Given the description of an element on the screen output the (x, y) to click on. 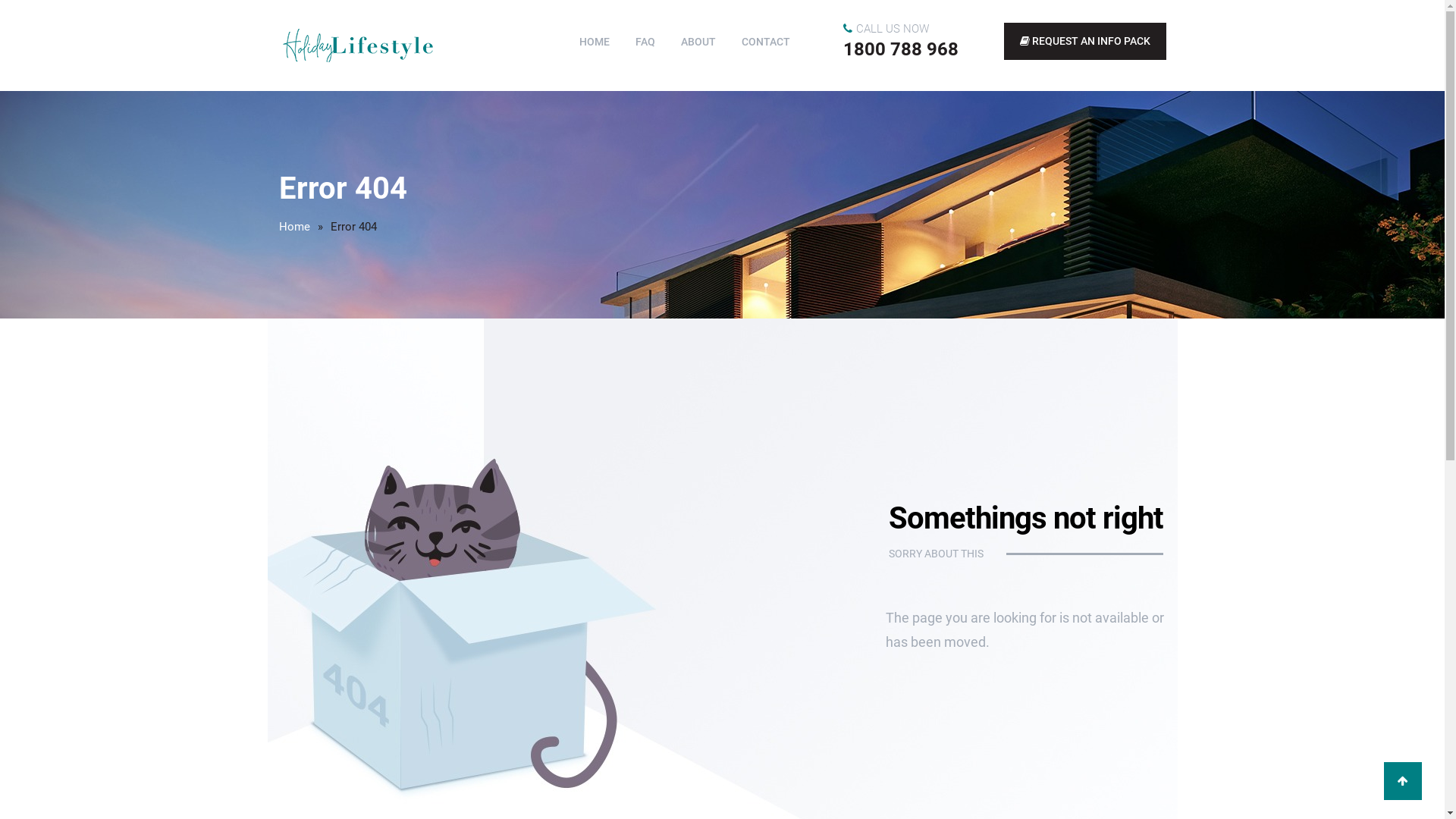
CONTACT Element type: text (765, 40)
FAQ Element type: text (645, 40)
ABOUT Element type: text (697, 40)
REQUEST AN INFO PACK Element type: text (1085, 40)
HOME Element type: text (594, 40)
Home Element type: text (294, 226)
